Given the description of an element on the screen output the (x, y) to click on. 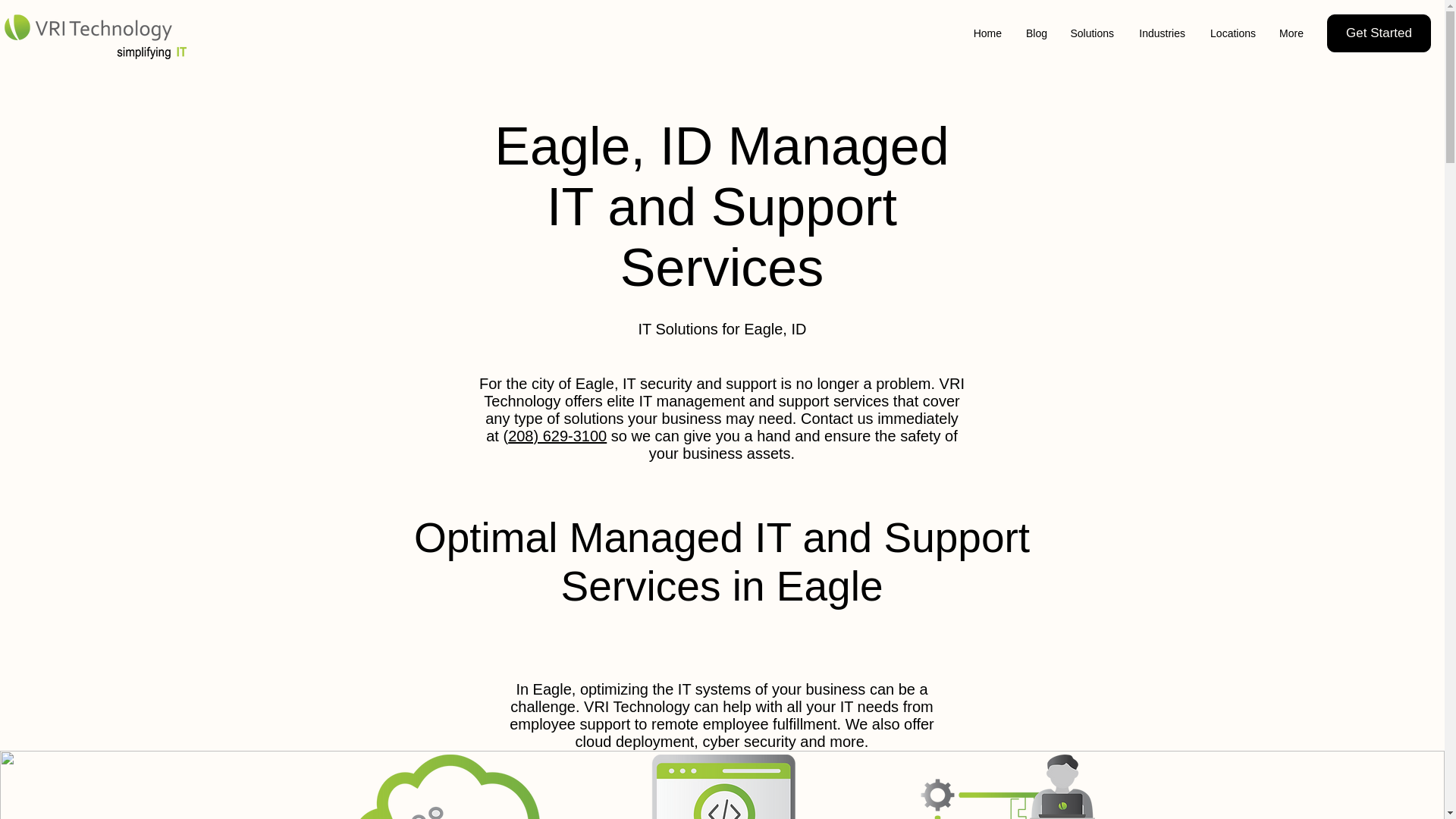
Blog (1035, 33)
Get Started (1378, 33)
Solutions (1091, 33)
Industries (1160, 33)
Home (986, 33)
